Given the description of an element on the screen output the (x, y) to click on. 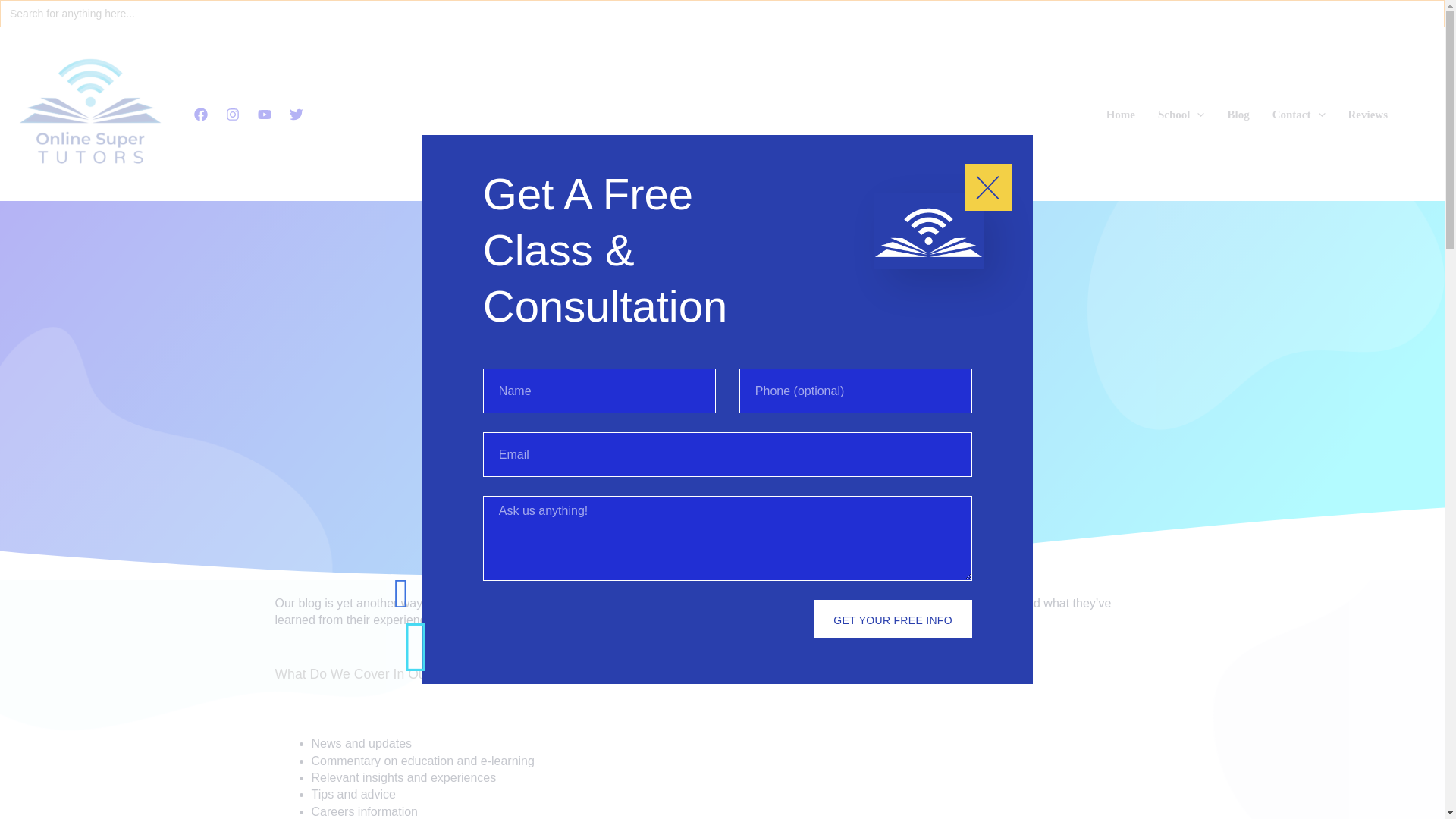
School (1181, 112)
